Given the description of an element on the screen output the (x, y) to click on. 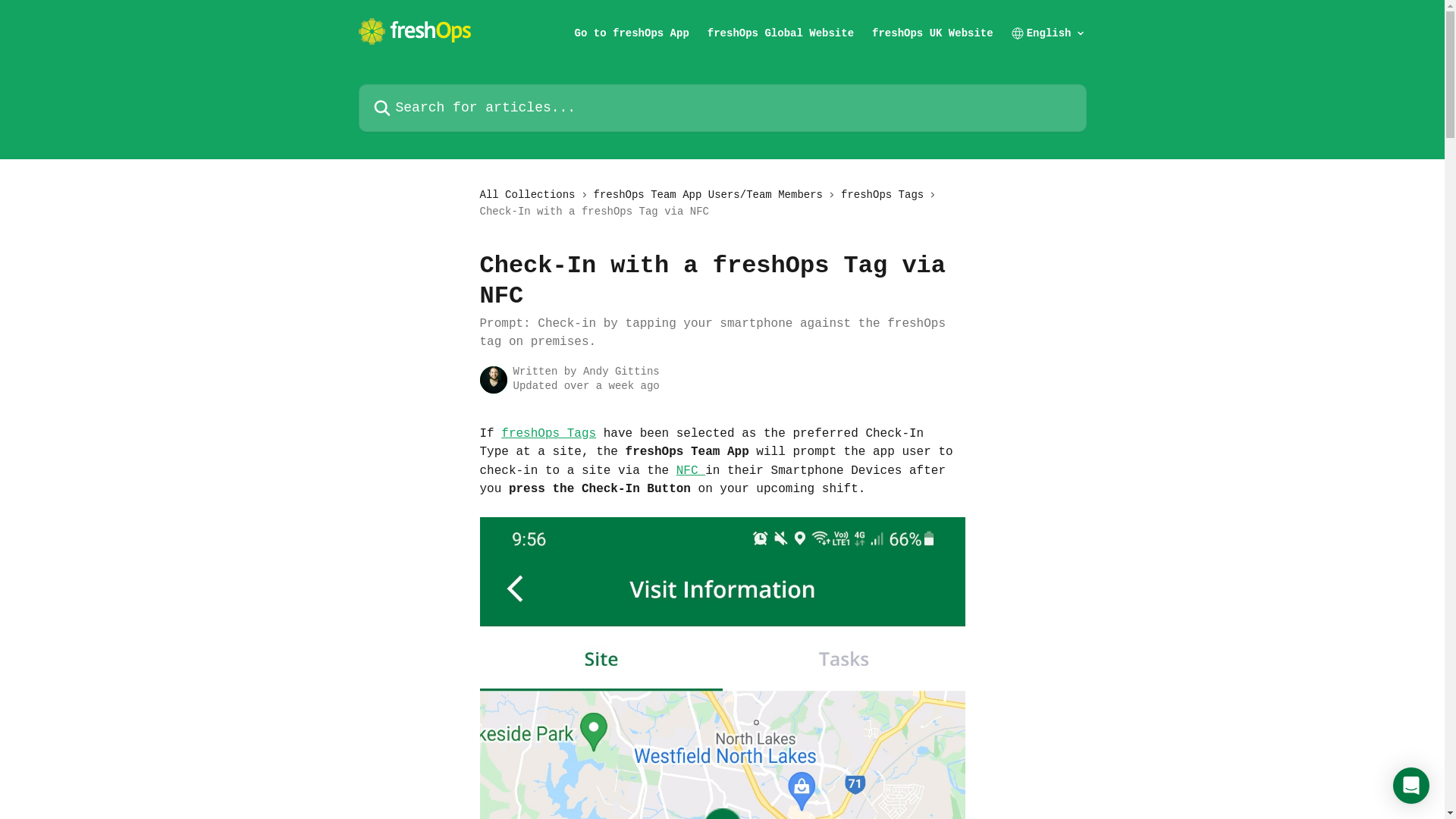
freshOps Global Website Element type: text (780, 32)
Go to freshOps App Element type: text (631, 32)
freshOps UK Website Element type: text (932, 32)
NFC Element type: text (690, 470)
freshOps Team App Users/Team Members Element type: text (710, 194)
freshOps Tags Element type: text (548, 433)
freshOps Tags Element type: text (884, 194)
All Collections Element type: text (529, 194)
